Given the description of an element on the screen output the (x, y) to click on. 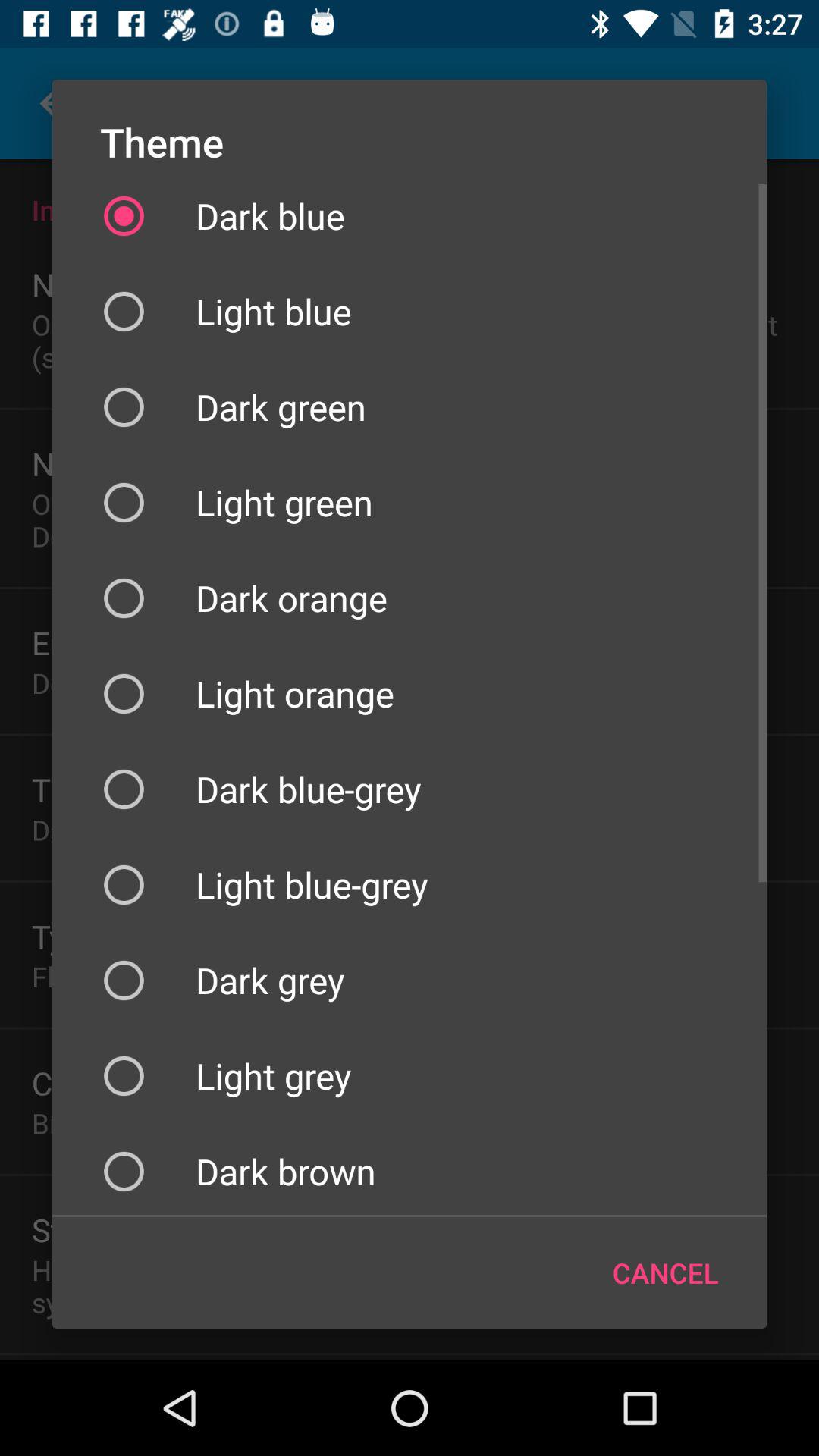
swipe until the cancel icon (665, 1272)
